Given the description of an element on the screen output the (x, y) to click on. 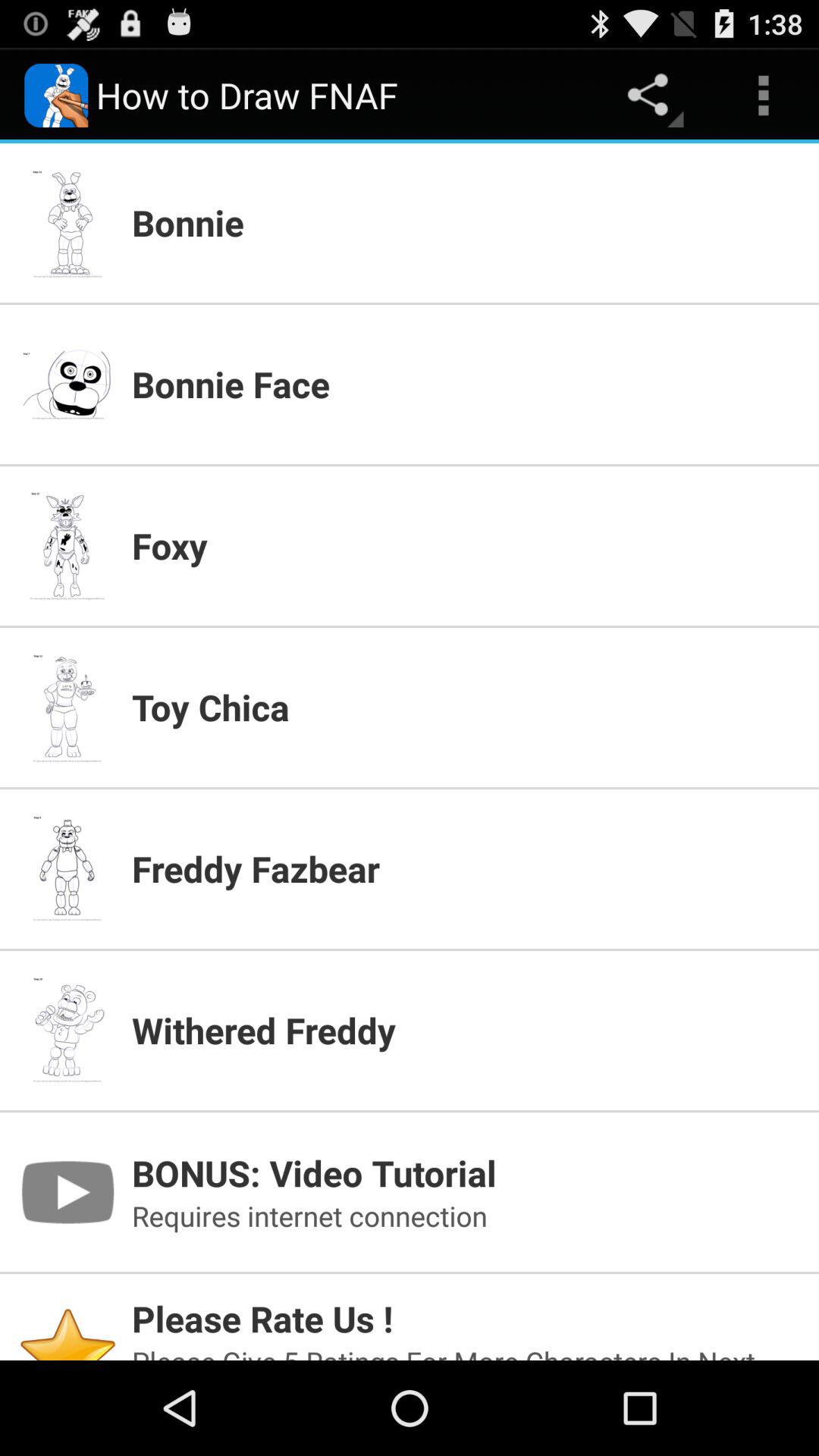
turn off the foxy item (465, 545)
